Given the description of an element on the screen output the (x, y) to click on. 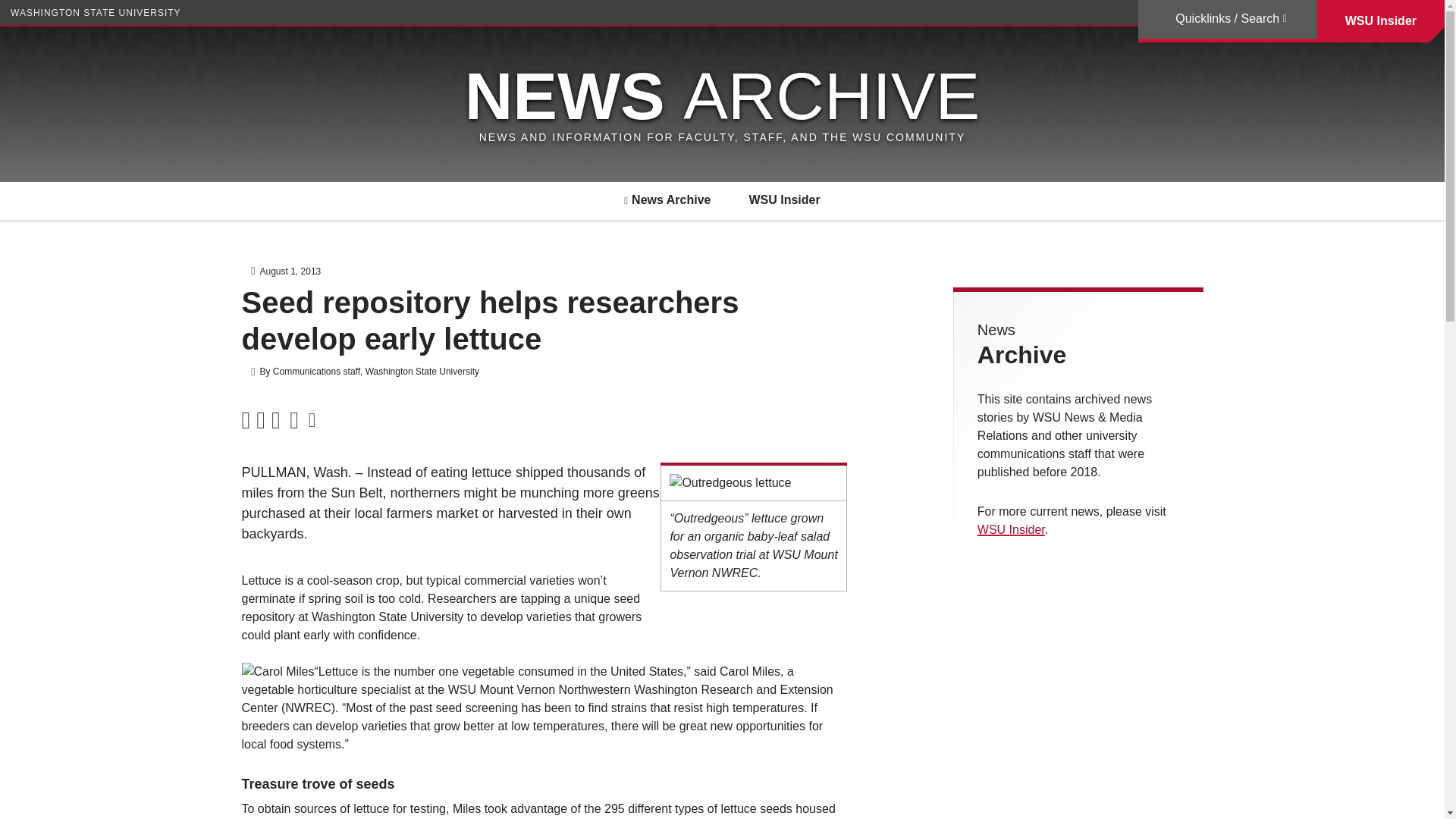
WSU Insider (783, 200)
Carol Miles (277, 671)
WSU Insider (1010, 529)
Outredgeous lettuce (729, 483)
News Archive (667, 200)
WASHINGTON STATE UNIVERSITY (96, 12)
